Given the description of an element on the screen output the (x, y) to click on. 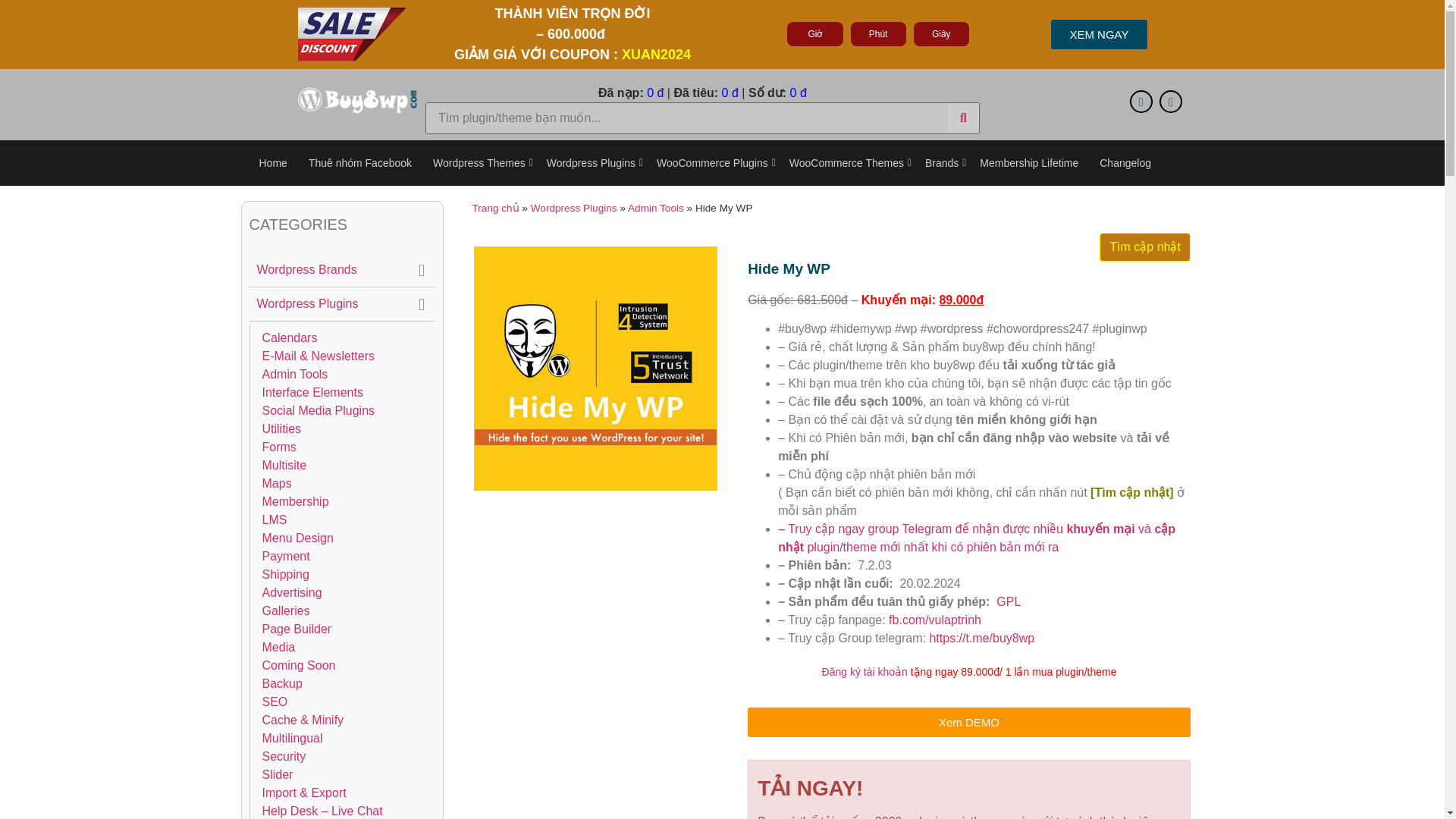
Wordpress Themes (478, 163)
Wordpress Themes (478, 163)
XEM NGAY (1099, 34)
Home (273, 163)
Wordpress Plugins (590, 163)
